Given the description of an element on the screen output the (x, y) to click on. 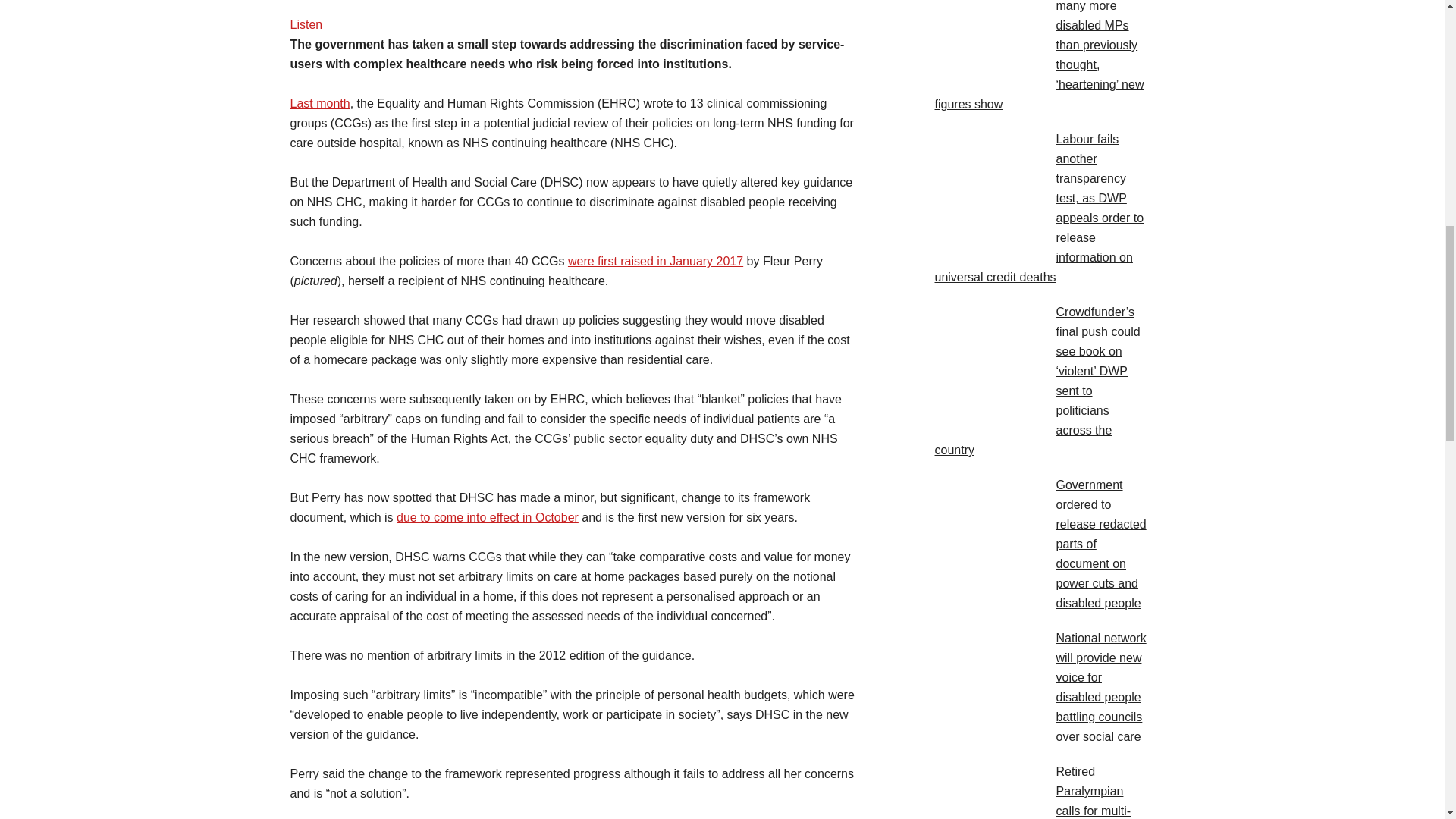
were first raised in January 2017 (654, 260)
due to come into effect in October (487, 517)
Listen (305, 24)
Last month (319, 103)
